Given the description of an element on the screen output the (x, y) to click on. 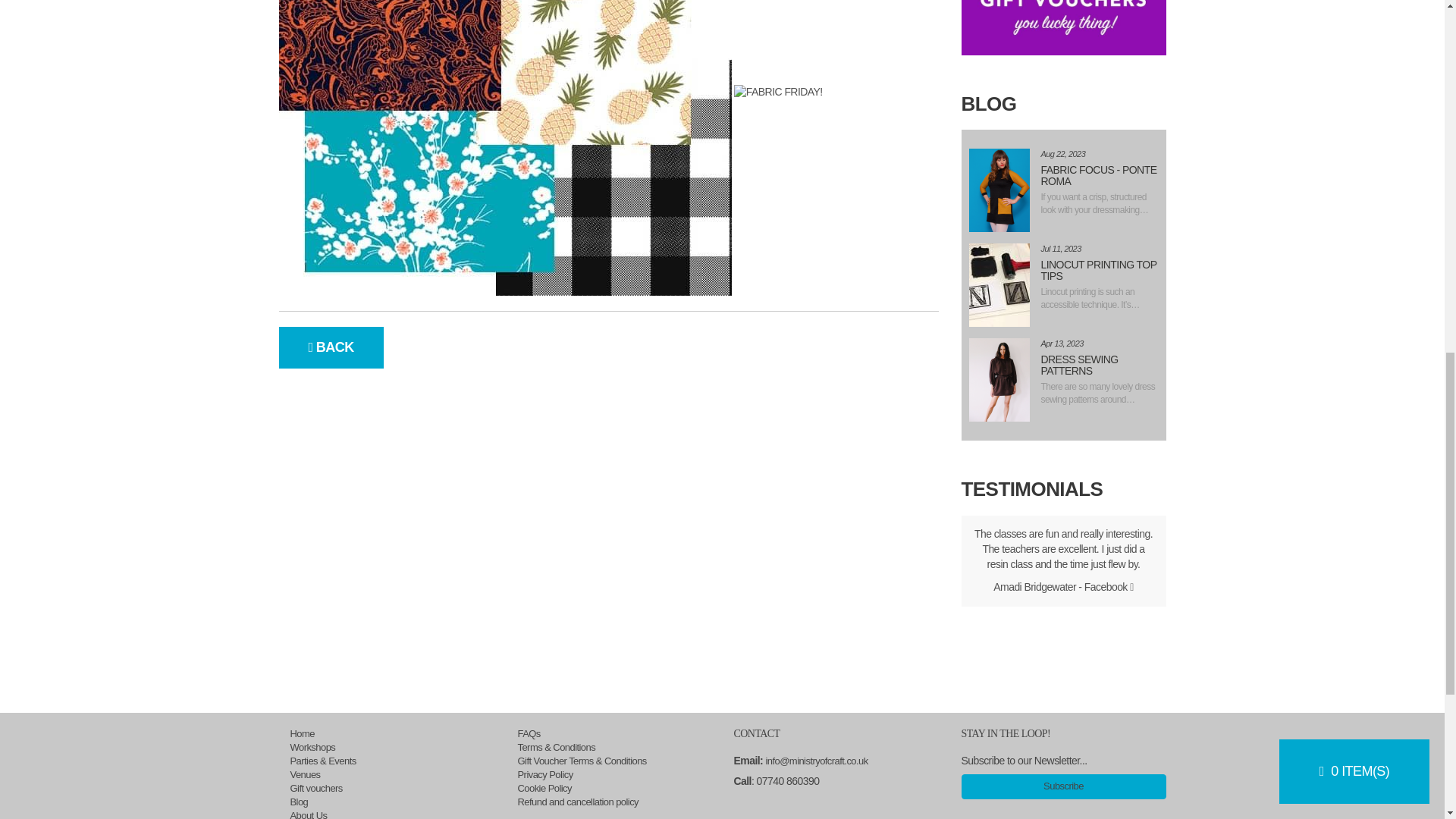
FABRIC FRIDAY! (777, 92)
Gift Vouchers (1063, 27)
FABRIC FRIDAY! (505, 147)
FABRIC FRIDAY! (999, 284)
FABRIC FRIDAY! (999, 189)
FABRIC FRIDAY! (999, 379)
